Given the description of an element on the screen output the (x, y) to click on. 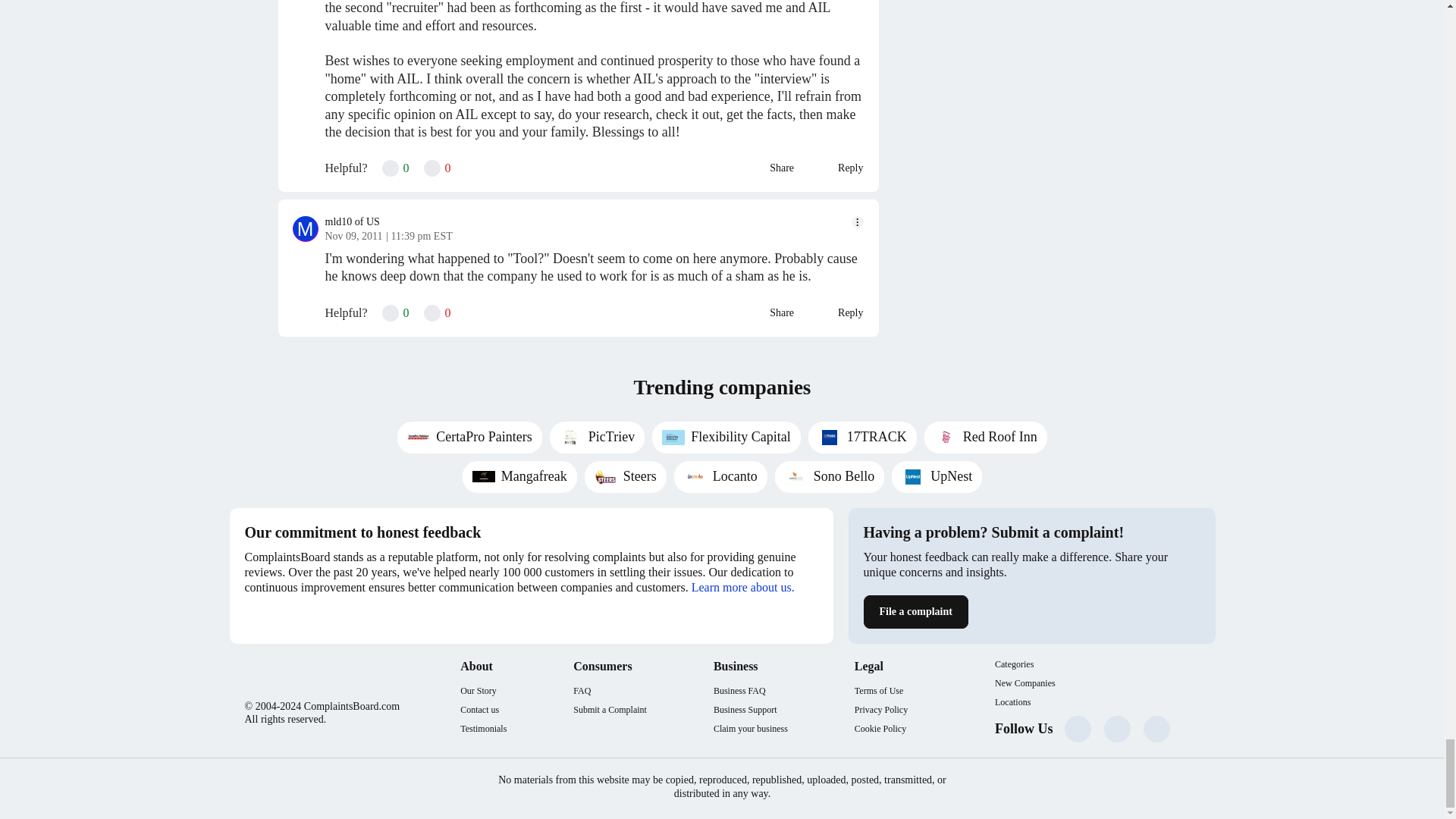
Sono Bello reviews (829, 477)
CertaPro Painters reviews (469, 437)
Flexibility Capital reviews (726, 437)
PicTriev reviews (597, 437)
17TRACK reviews (862, 437)
Locanto reviews (720, 477)
UpNest reviews (936, 477)
Steers reviews (625, 477)
Red Roof Inn reviews (985, 437)
Mangafreak reviews (519, 477)
